Given the description of an element on the screen output the (x, y) to click on. 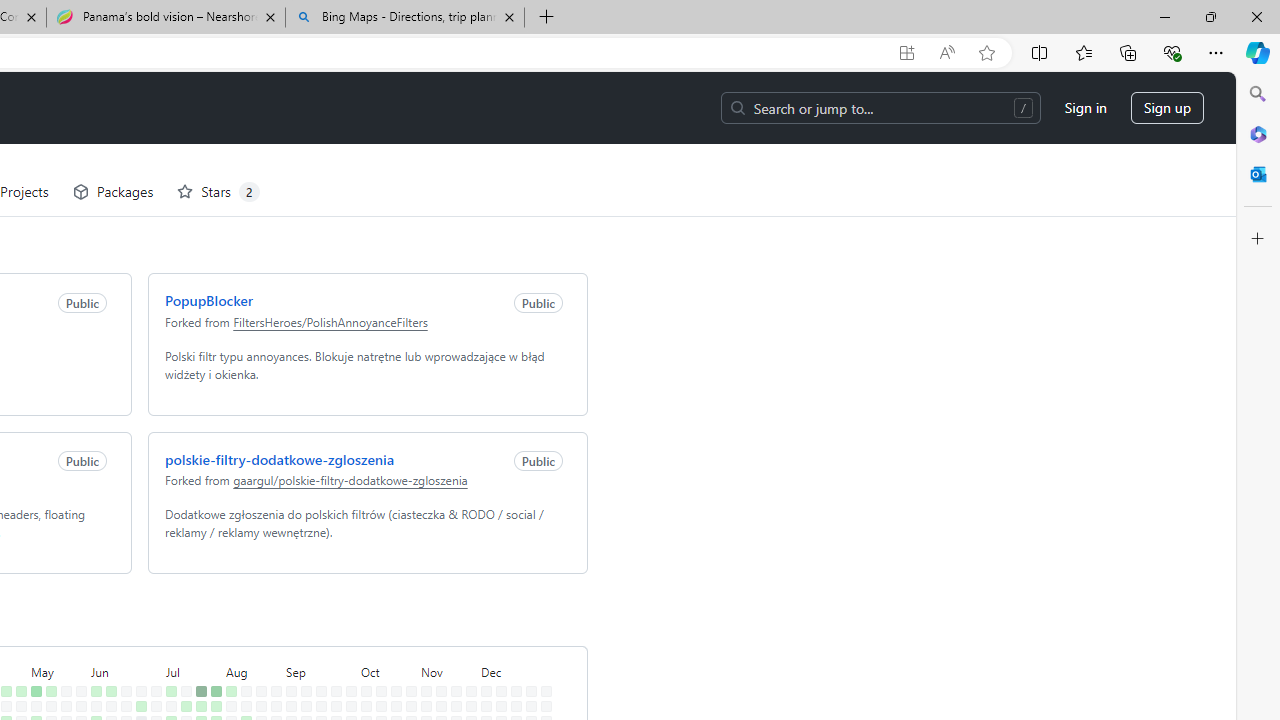
2 contributions on June 9th. (107, 619)
No contributions on June 20th. (122, 678)
No contributions on May 24th. (62, 694)
No contributions on August 20th. (257, 649)
No contributions on August 27th. (272, 649)
No contributions on October 4th. (347, 694)
No contributions on May 8th. (32, 664)
No contributions on September 9th. (302, 634)
No contributions on September 29th. (347, 619)
2 contributions on July 11th. (167, 678)
No contributions on December 1st. (482, 619)
No contributions on December 22nd. (527, 619)
October (385, 598)
2 contributions on July 22nd. (197, 634)
